Given the description of an element on the screen output the (x, y) to click on. 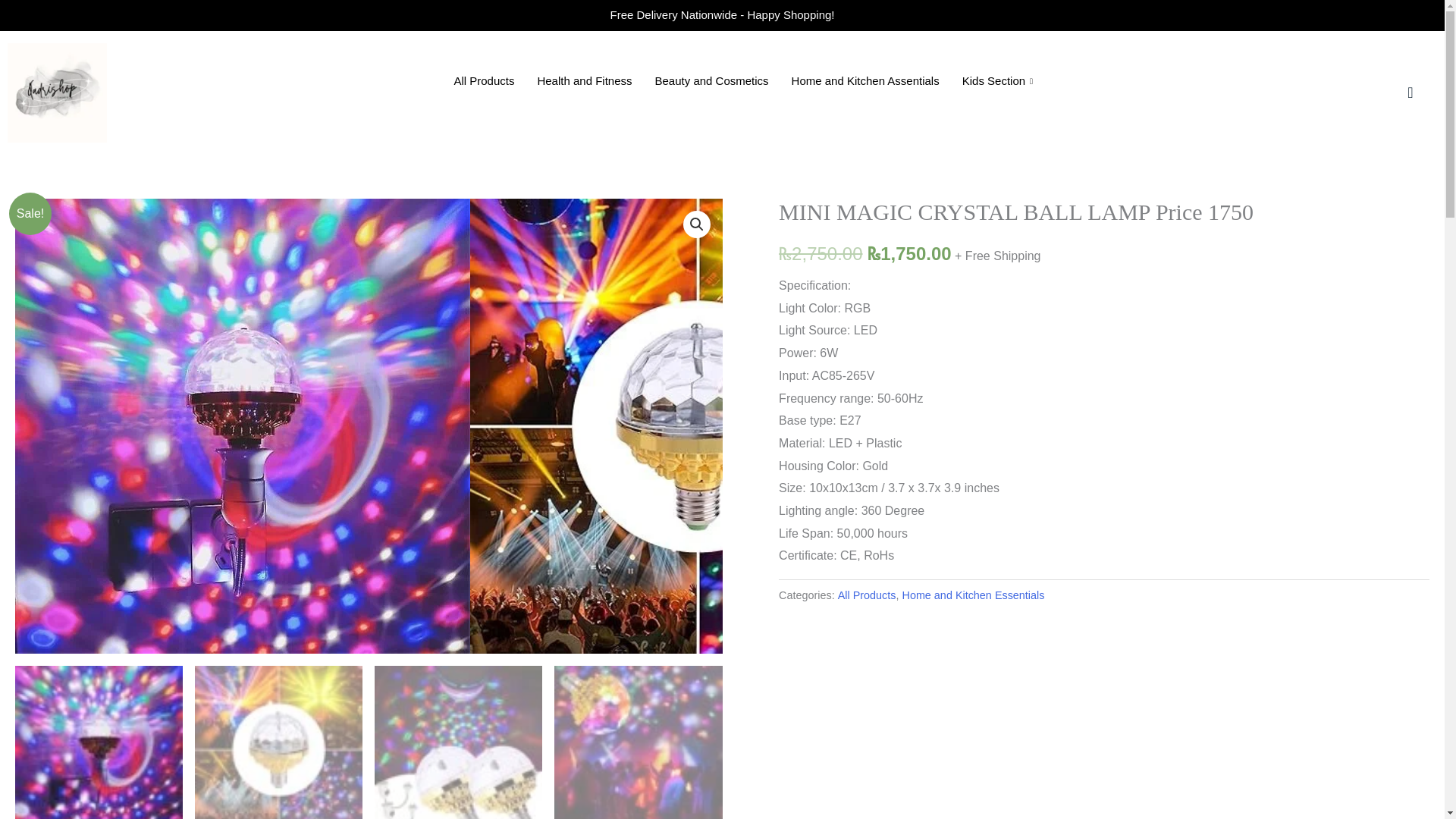
Home and Kitchen Assentials (865, 80)
All Products (483, 80)
All Products (867, 594)
Kids Section (999, 80)
Beauty and Cosmetics (711, 80)
Home and Kitchen Essentials (972, 594)
Health and Fitness (584, 80)
